Given the description of an element on the screen output the (x, y) to click on. 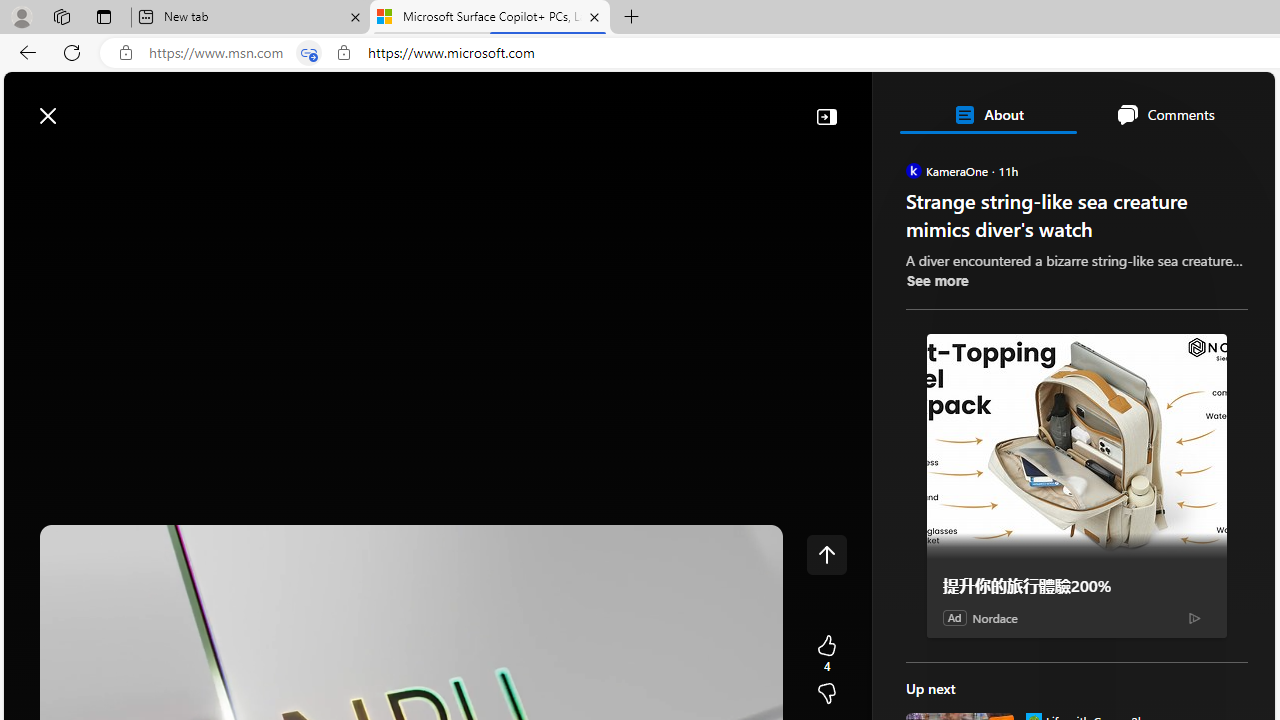
Web search (283, 105)
The Associated Press (974, 645)
Class: button-glyph (29, 162)
ABC News (974, 557)
Class: control icon-only (826, 554)
